Given the description of an element on the screen output the (x, y) to click on. 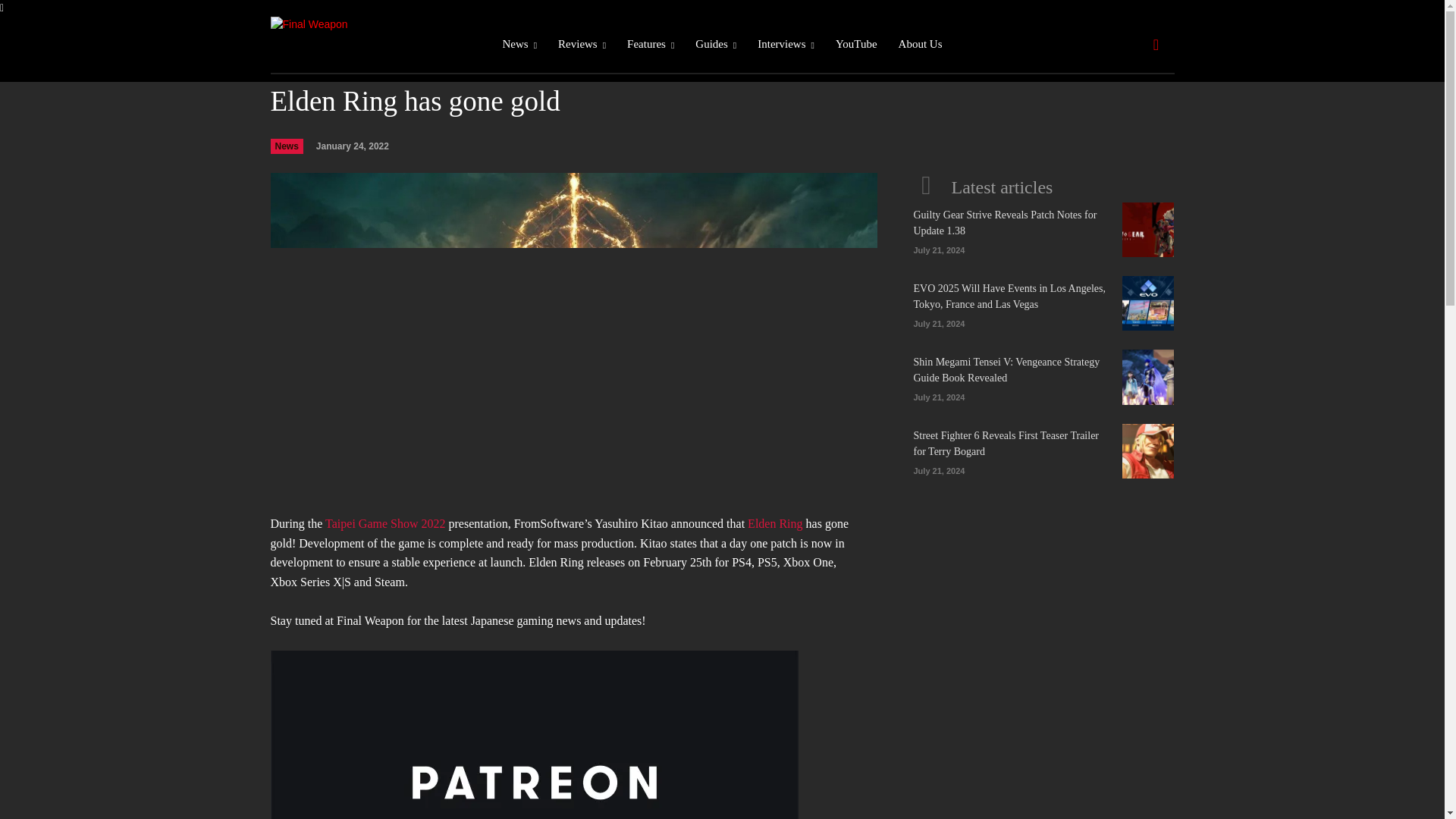
News (519, 43)
Reviews (581, 43)
